Given the description of an element on the screen output the (x, y) to click on. 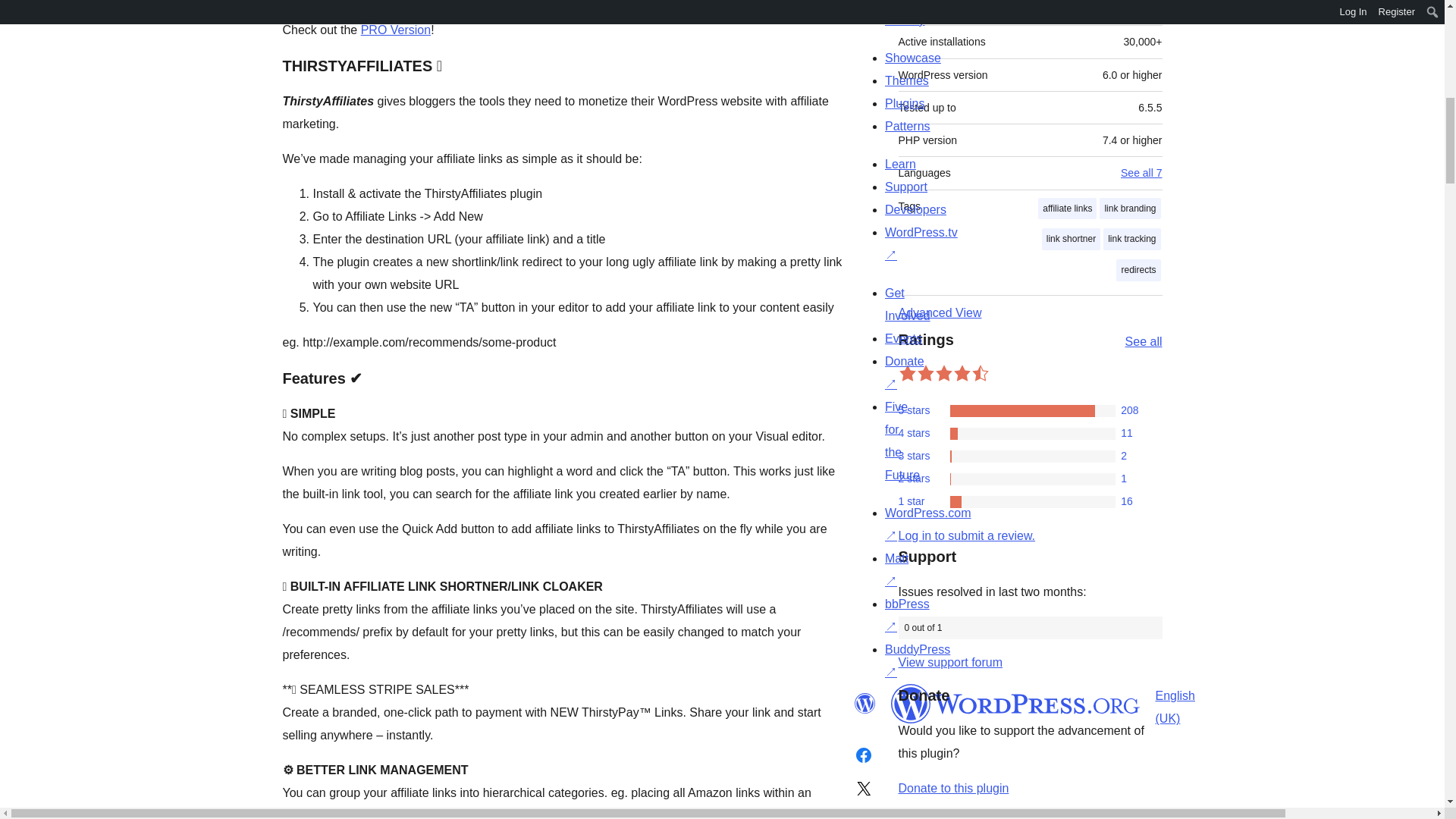
WordPress.org (1014, 703)
WordPress.org (864, 703)
ThirstyAffiliates (383, 6)
Log in to WordPress.org (966, 535)
PRO Version (395, 29)
